Given the description of an element on the screen output the (x, y) to click on. 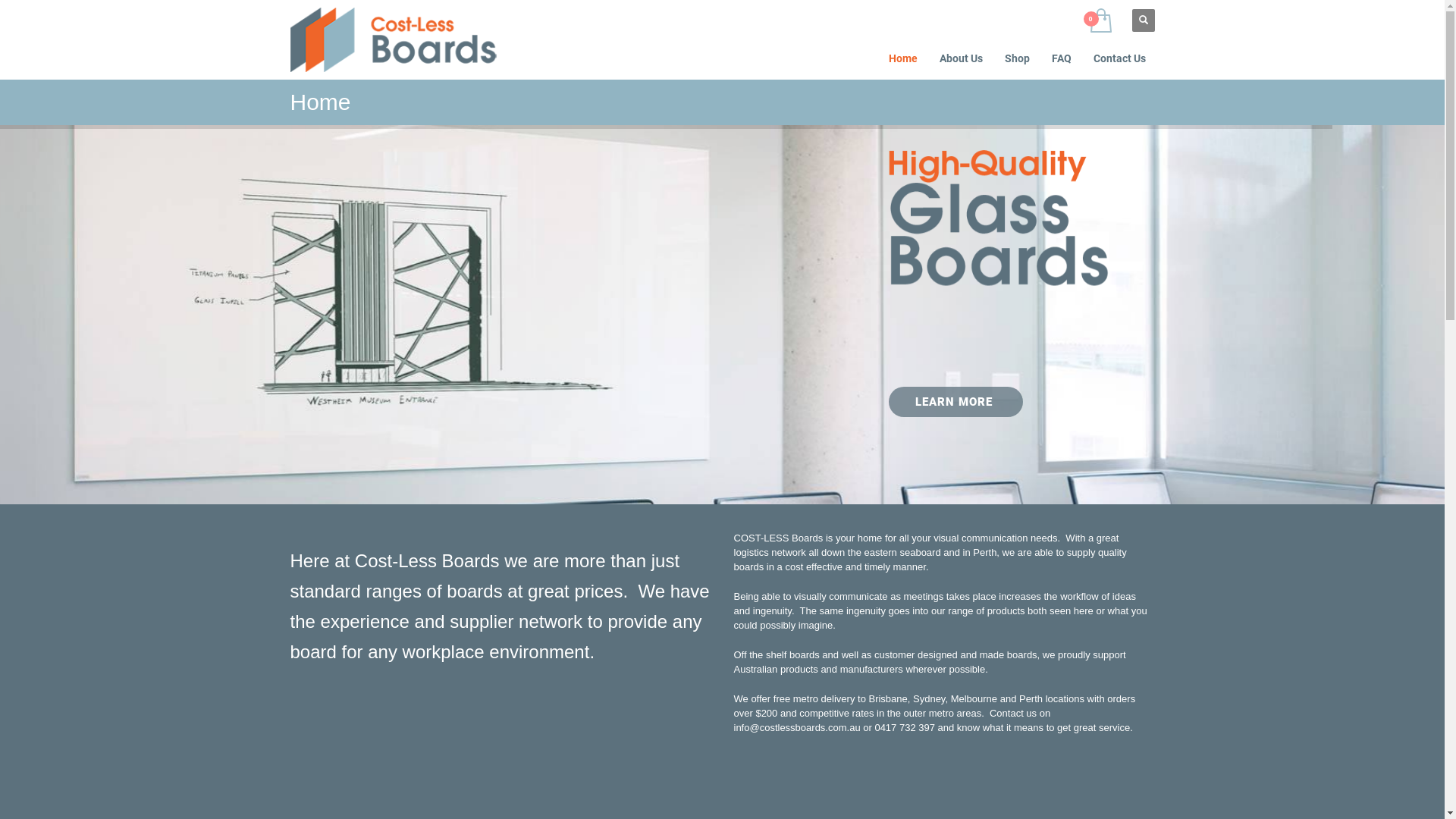
Contact Us Element type: text (1119, 58)
View your shopping cart Element type: hover (1099, 20)
0417 732 397 Element type: text (904, 727)
info@costlessboards.com.au Element type: text (797, 727)
Home Element type: text (902, 58)
LEARN MORE Element type: text (955, 401)
FAQ Element type: text (1061, 58)
About Us Element type: text (960, 58)
Shop Element type: text (1016, 58)
